Given the description of an element on the screen output the (x, y) to click on. 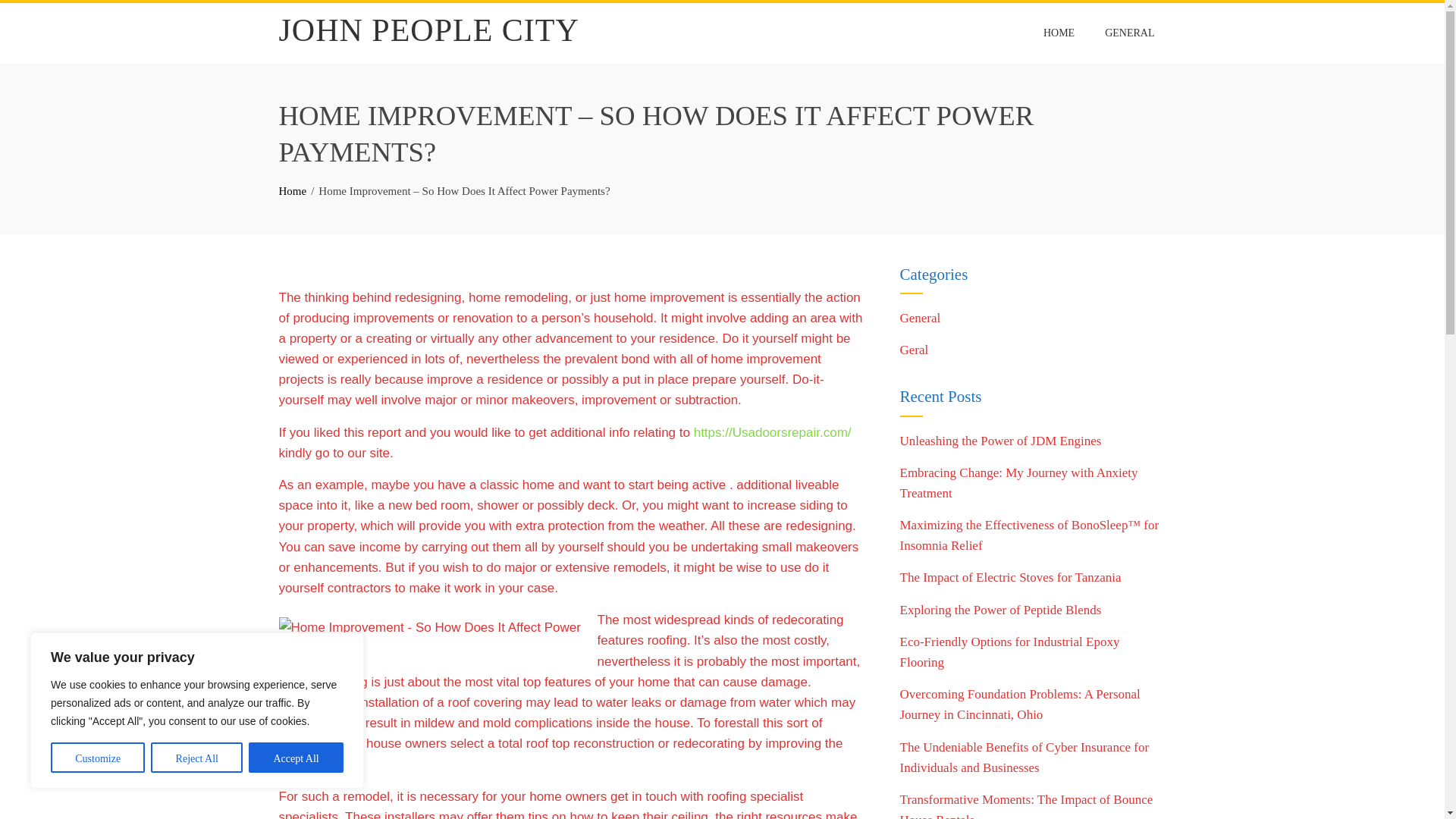
Eco-Friendly Options for Industrial Epoxy Flooring (1009, 651)
Embracing Change: My Journey with Anxiety Treatment (1018, 483)
General (919, 318)
Accept All (295, 757)
Reject All (197, 757)
Exploring the Power of Peptide Blends (999, 609)
Customize (97, 757)
JOHN PEOPLE CITY (429, 30)
HOME (1059, 32)
Unleashing the Power of JDM Engines (999, 440)
Home (293, 191)
The Impact of Electric Stoves for Tanzania (1010, 577)
Geral (913, 350)
